Given the description of an element on the screen output the (x, y) to click on. 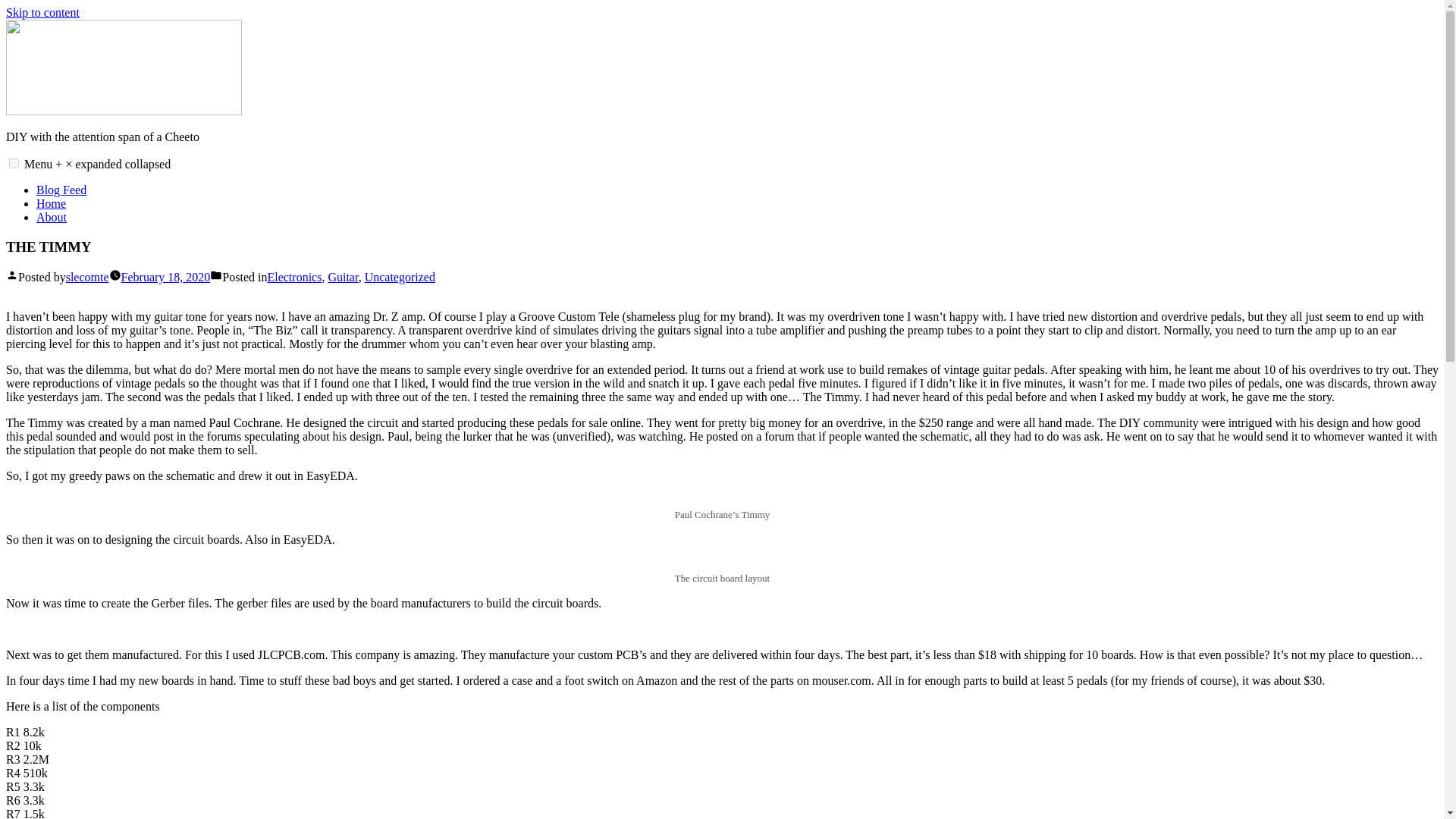
February 18, 2020 (165, 277)
Home (50, 203)
Uncategorized (400, 277)
About (51, 216)
Blog Feed (60, 189)
Electronics (293, 277)
Skip to content (42, 11)
Guitar (342, 277)
slecomte (87, 277)
on (13, 163)
